Given the description of an element on the screen output the (x, y) to click on. 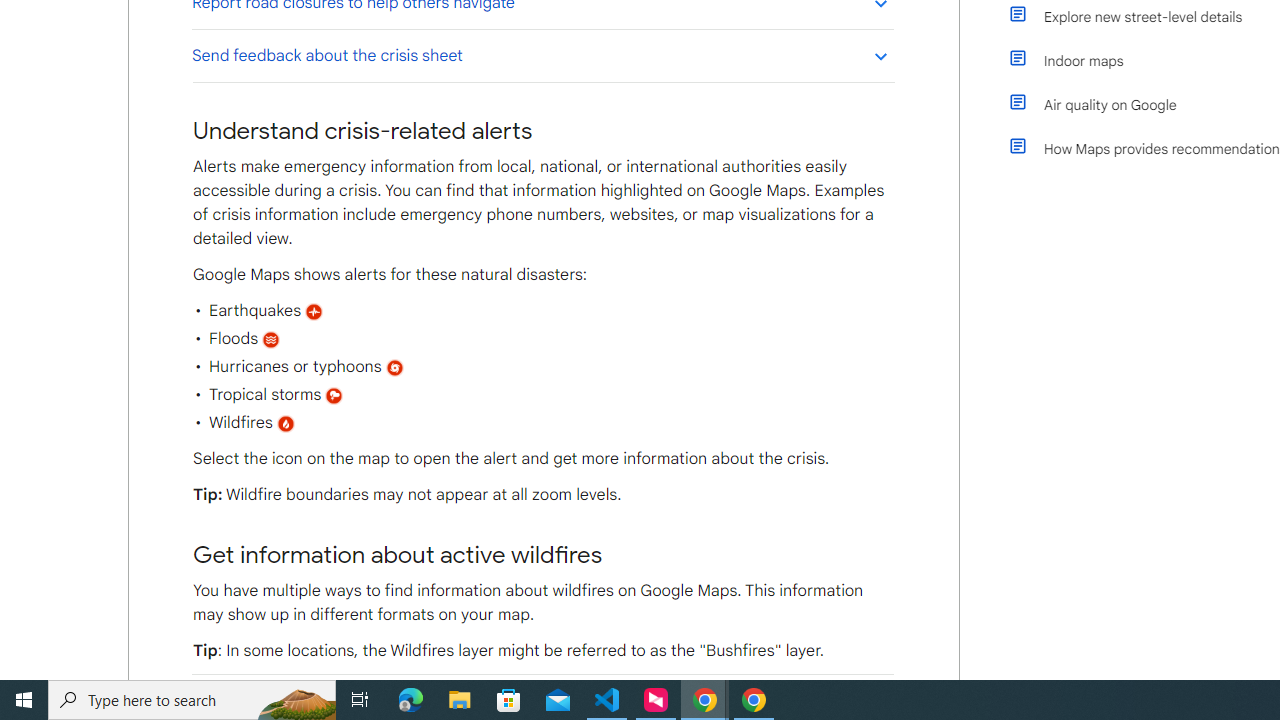
Send feedback about the crisis sheet (542, 55)
